Given the description of an element on the screen output the (x, y) to click on. 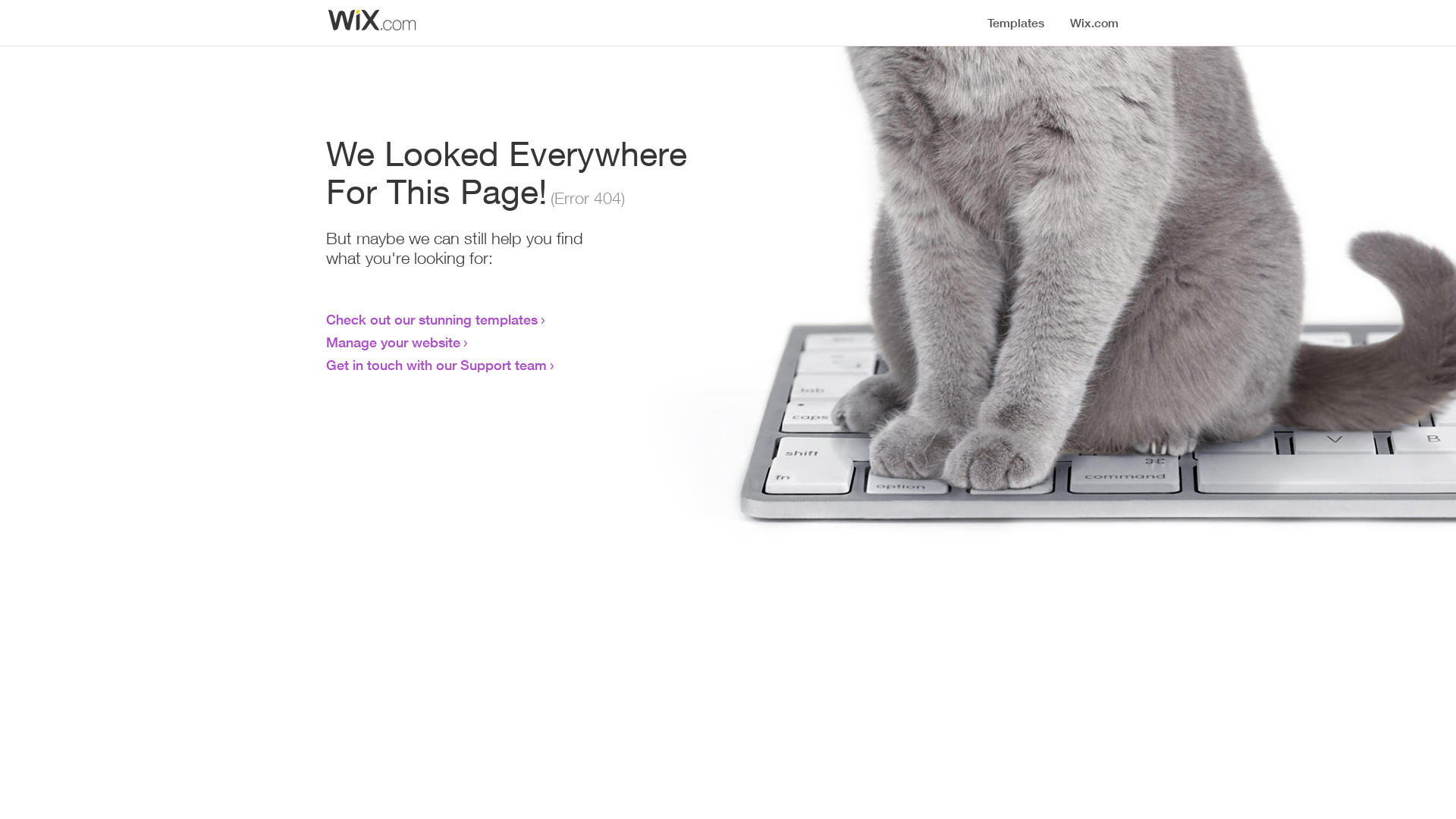
Get in touch with our Support team Element type: text (436, 364)
Manage your website Element type: text (393, 341)
Check out our stunning templates Element type: text (431, 318)
